Given the description of an element on the screen output the (x, y) to click on. 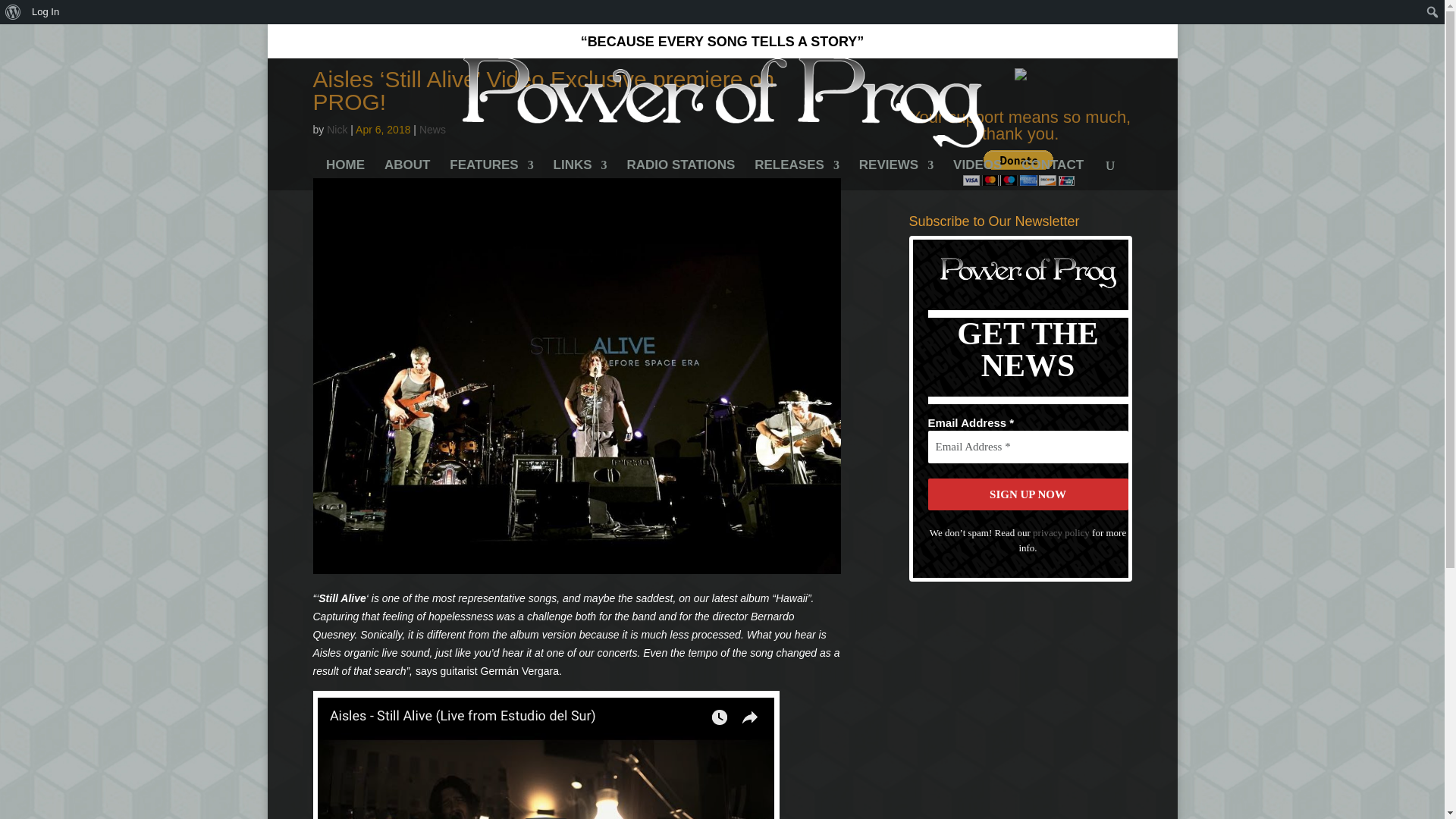
CONTACT (1052, 174)
FEATURES (490, 174)
LINKS (580, 174)
RELEASES (797, 174)
Nick (336, 129)
Posts by Nick (336, 129)
RADIO STATIONS (680, 174)
Log In (45, 12)
SIGN UP NOW (1028, 494)
Email Address (1028, 446)
